Given the description of an element on the screen output the (x, y) to click on. 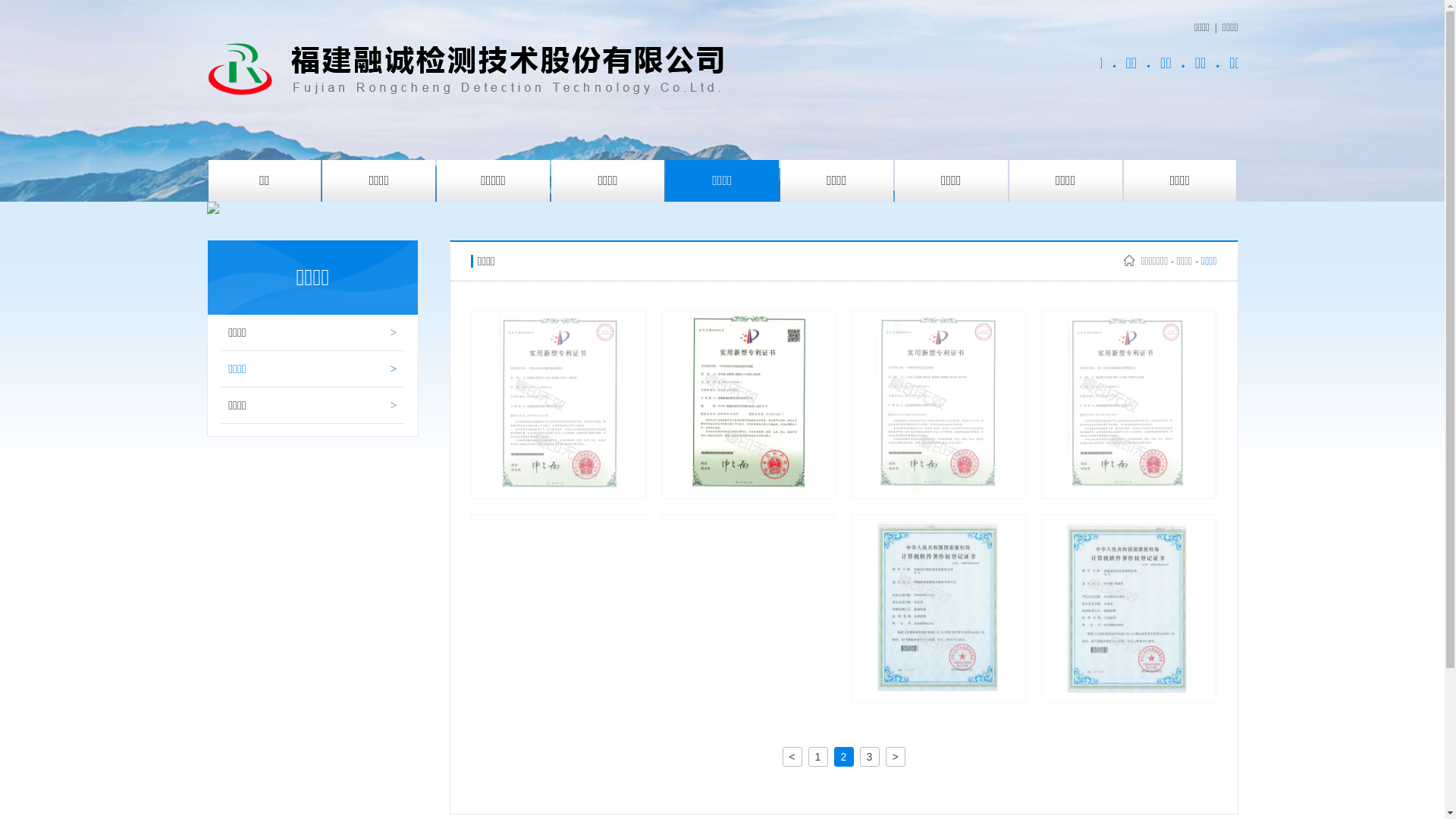
3 Element type: text (869, 756)
> Element type: text (895, 756)
1 Element type: text (818, 756)
< Element type: text (792, 756)
2 Element type: text (843, 756)
